Given the description of an element on the screen output the (x, y) to click on. 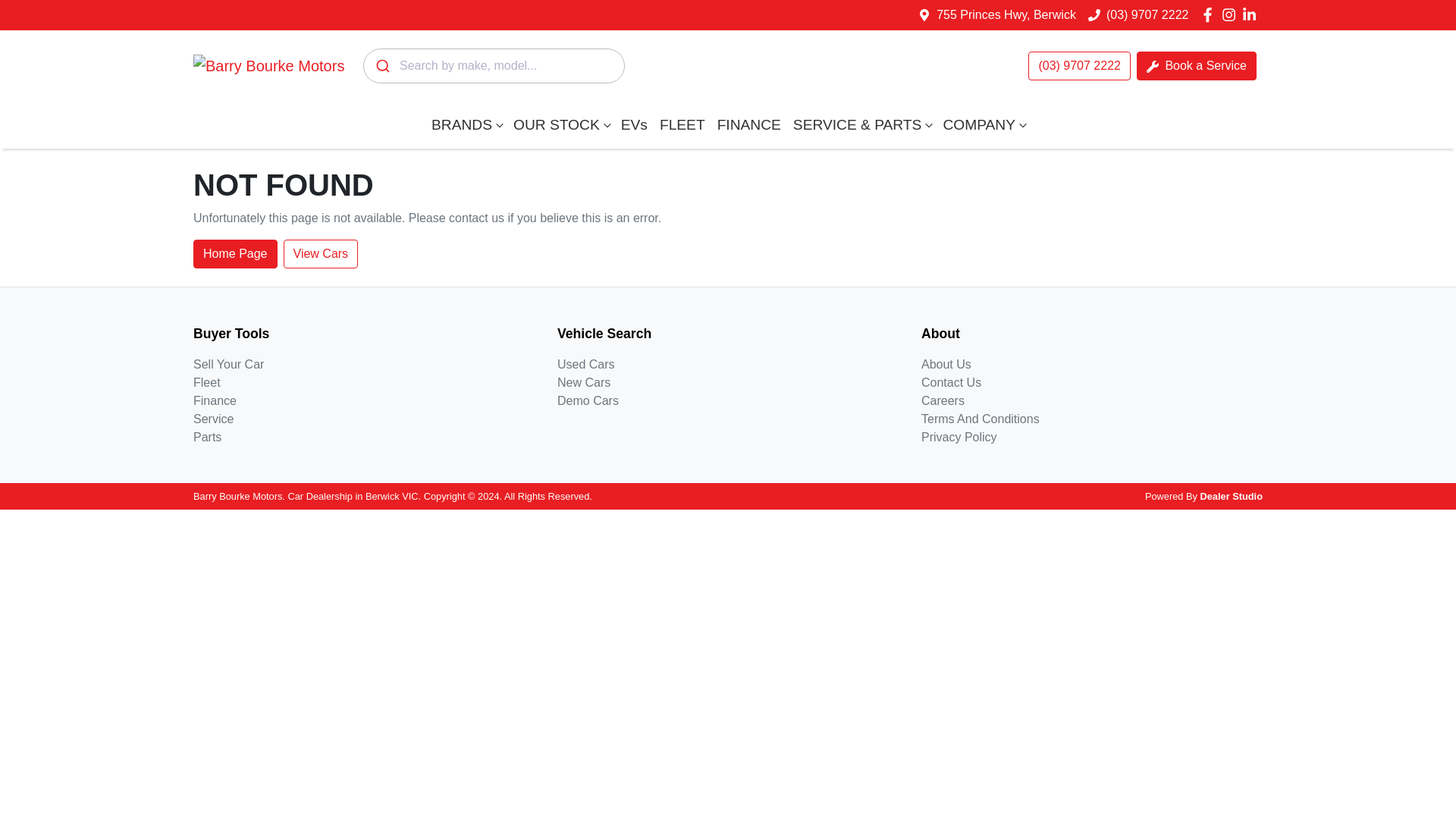
About Us (946, 364)
Privacy Policy (959, 436)
Finance (214, 400)
Contact Us (951, 382)
Careers (942, 400)
BRANDS (465, 125)
Service (212, 418)
Home Page (235, 253)
Demo Cars (587, 400)
FINANCE (749, 125)
Parts (207, 436)
Used Cars (585, 364)
Submit (381, 65)
New Cars (583, 382)
Sell Your Car (228, 364)
